Given the description of an element on the screen output the (x, y) to click on. 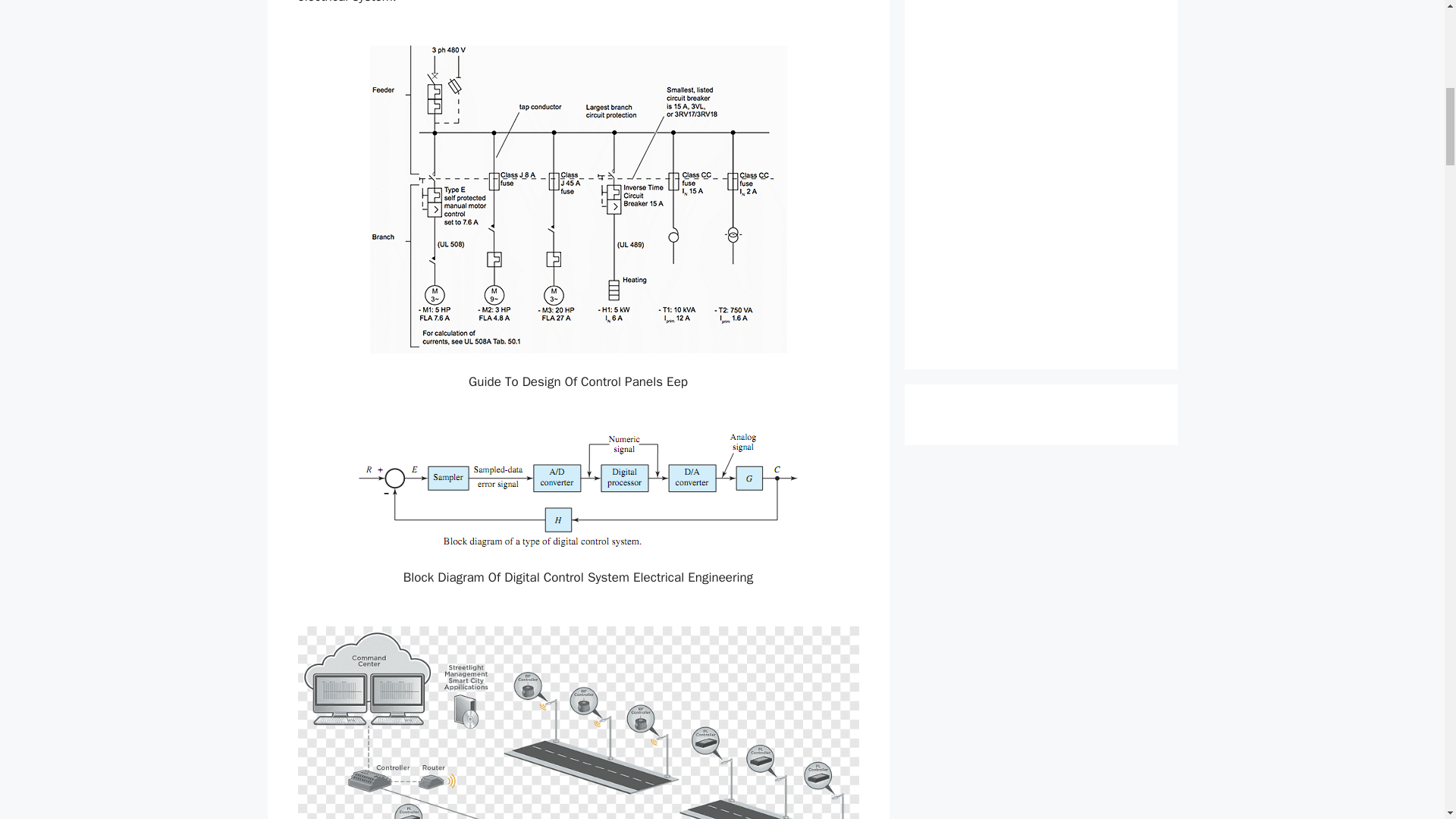
Guide To Design Of Control Panels Eep (578, 198)
